Given the description of an element on the screen output the (x, y) to click on. 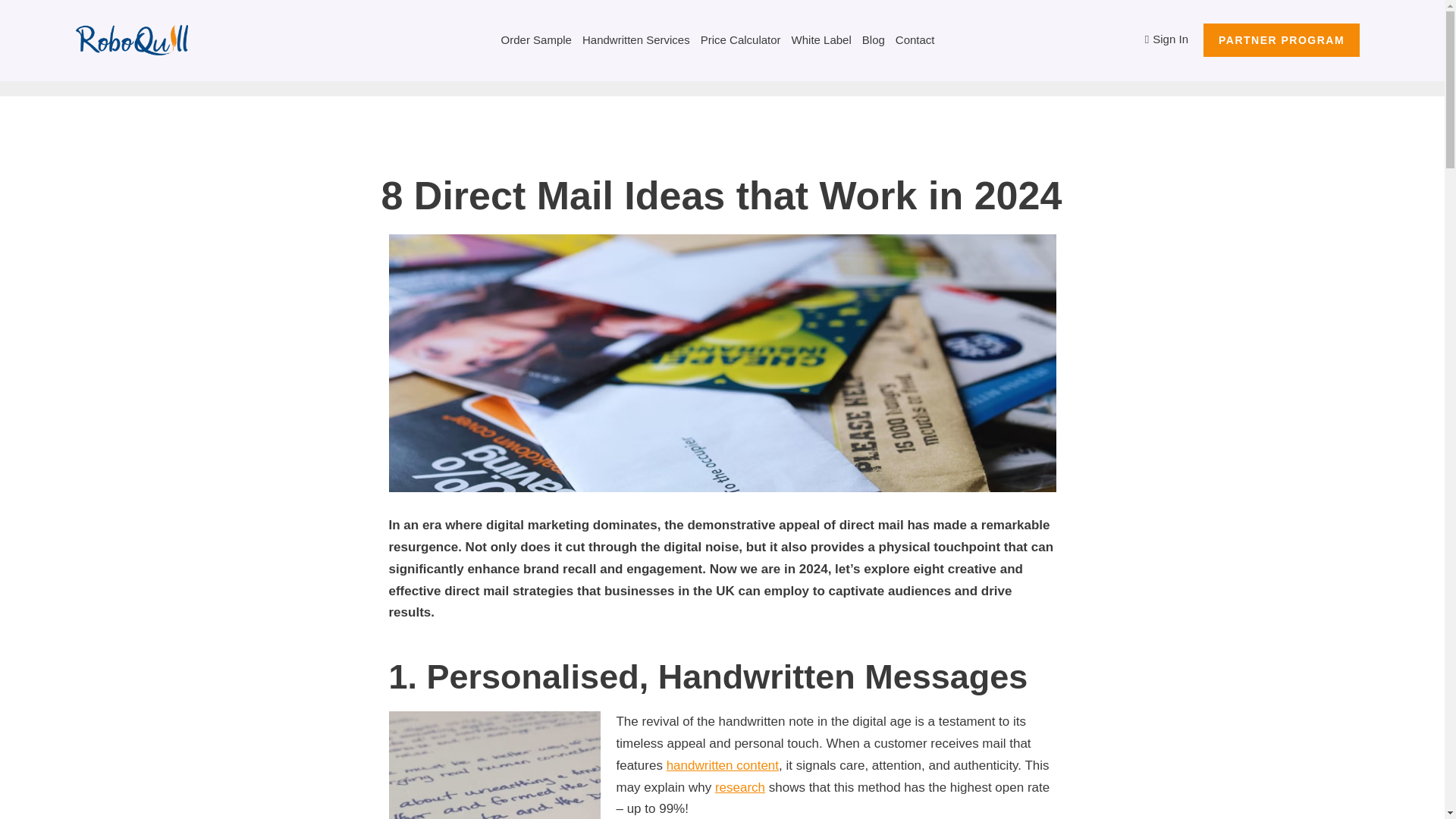
handwritten content (722, 765)
Sign In (1174, 39)
research (739, 787)
PARTNER PROGRAM (1281, 39)
White Label (821, 39)
Handwritten Services (636, 39)
Price Calculator (740, 39)
Order Sample (536, 39)
